Given the description of an element on the screen output the (x, y) to click on. 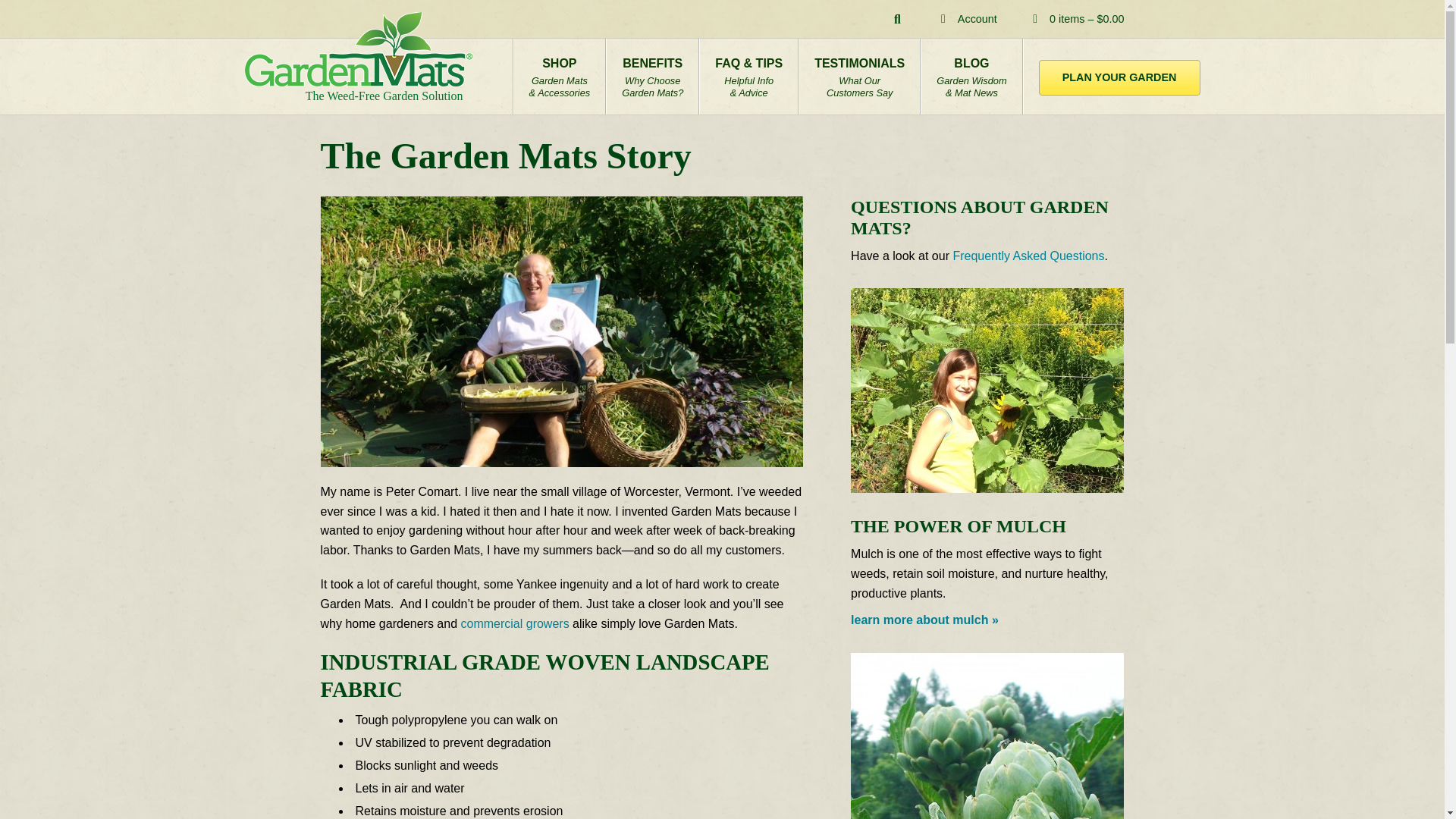
commercial growers (515, 623)
Cart (965, 18)
Account (1119, 76)
Search (1035, 19)
Frequently Asked Questions (944, 19)
top-bar-cart (897, 19)
The Weed-Free Garden Solution (1027, 255)
